Given the description of an element on the screen output the (x, y) to click on. 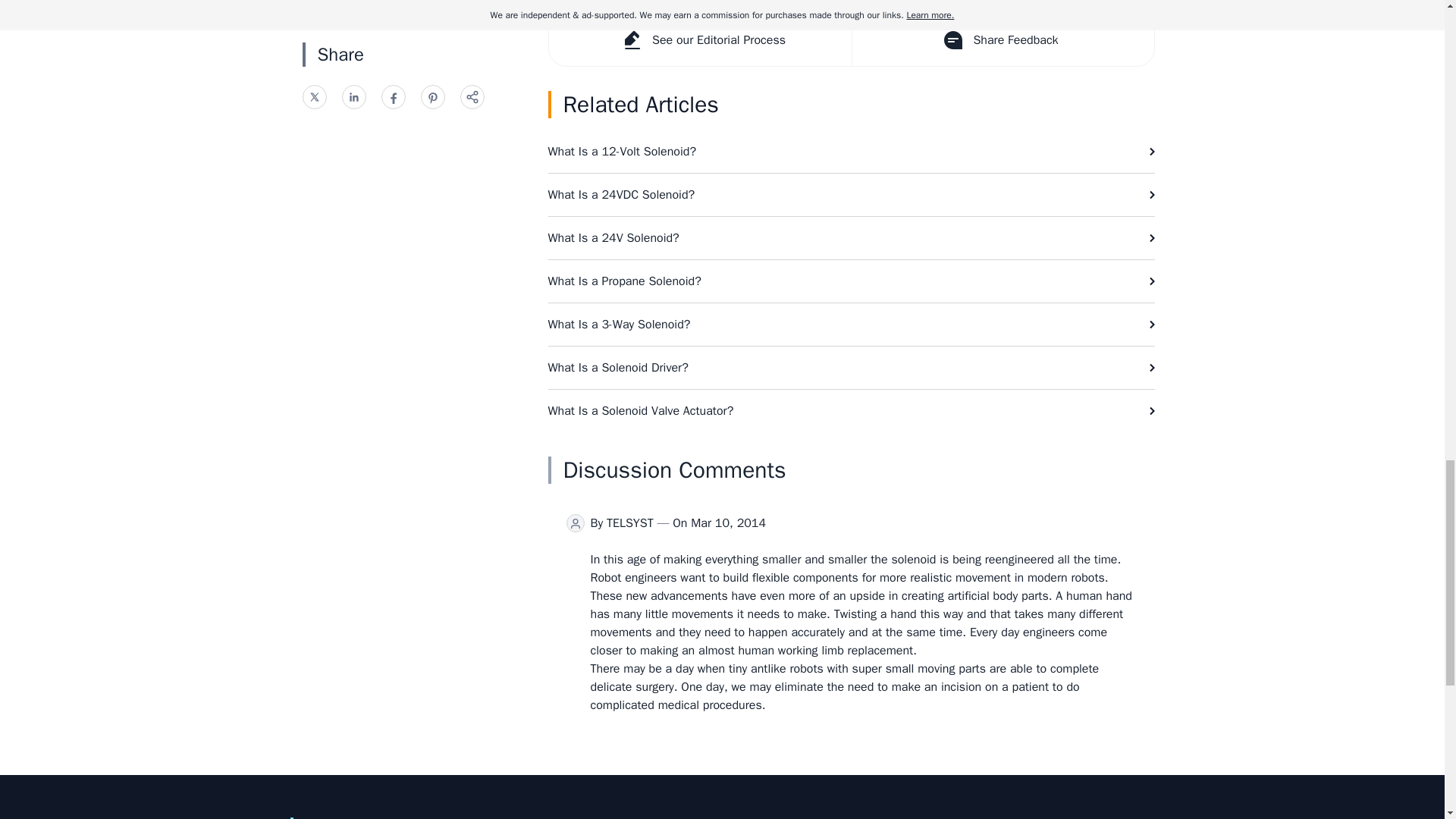
Share Feedback (1001, 40)
See our Editorial Process (699, 40)
